Given the description of an element on the screen output the (x, y) to click on. 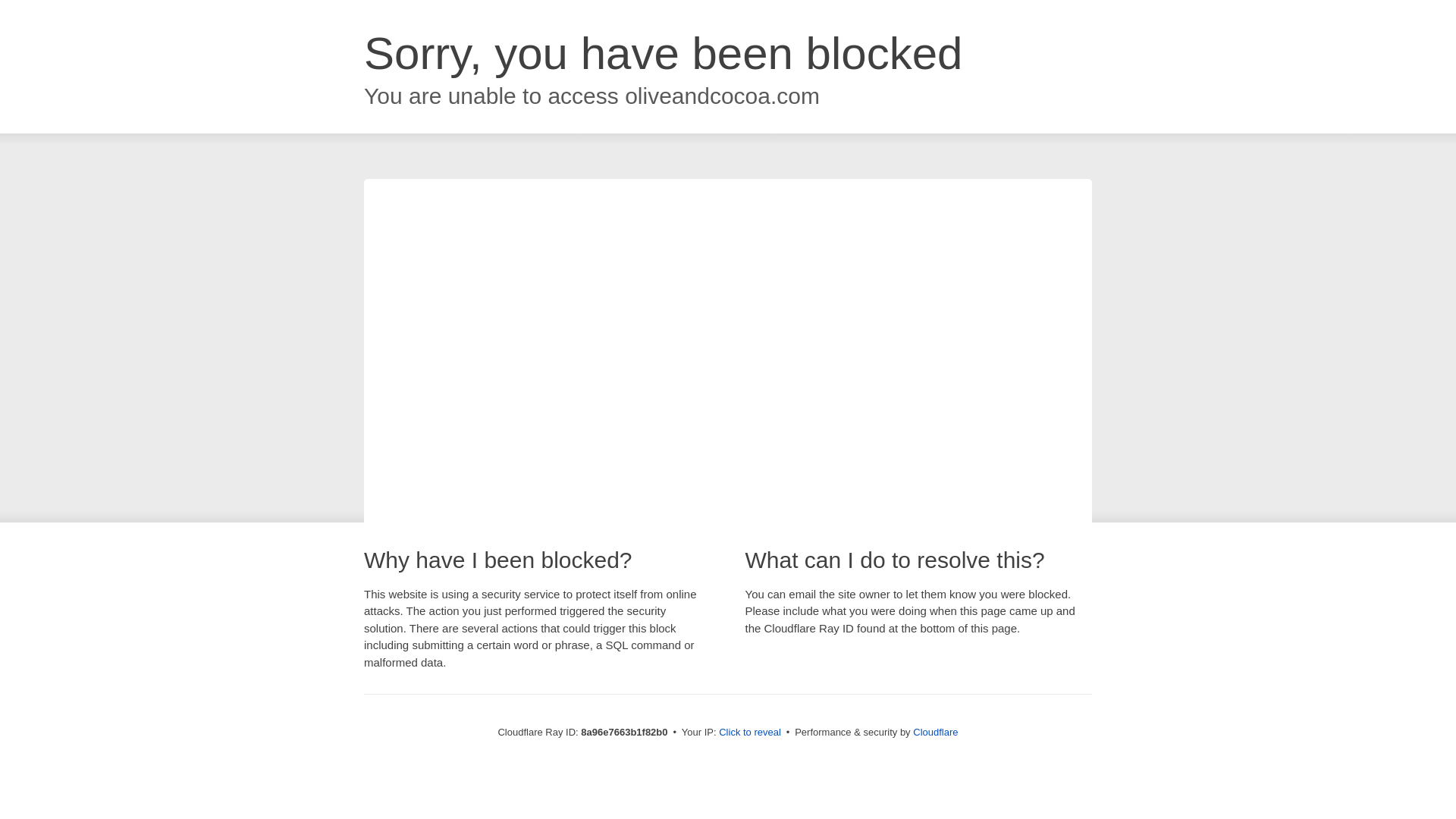
Cloudflare (935, 731)
Click to reveal (749, 732)
